Given the description of an element on the screen output the (x, y) to click on. 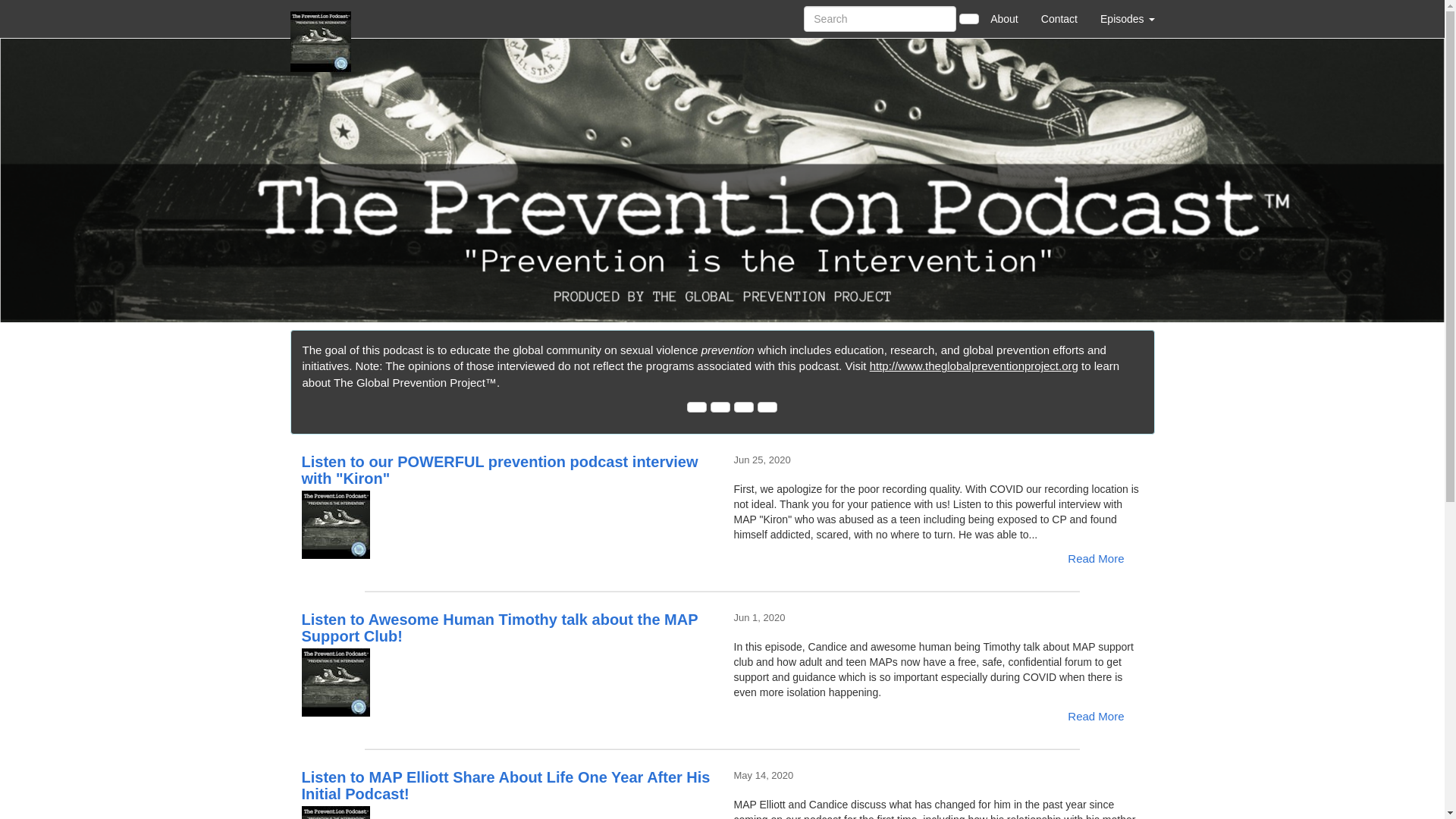
Contact (1059, 18)
Episodes (1127, 18)
Home Page (320, 18)
About (1003, 18)
